Given the description of an element on the screen output the (x, y) to click on. 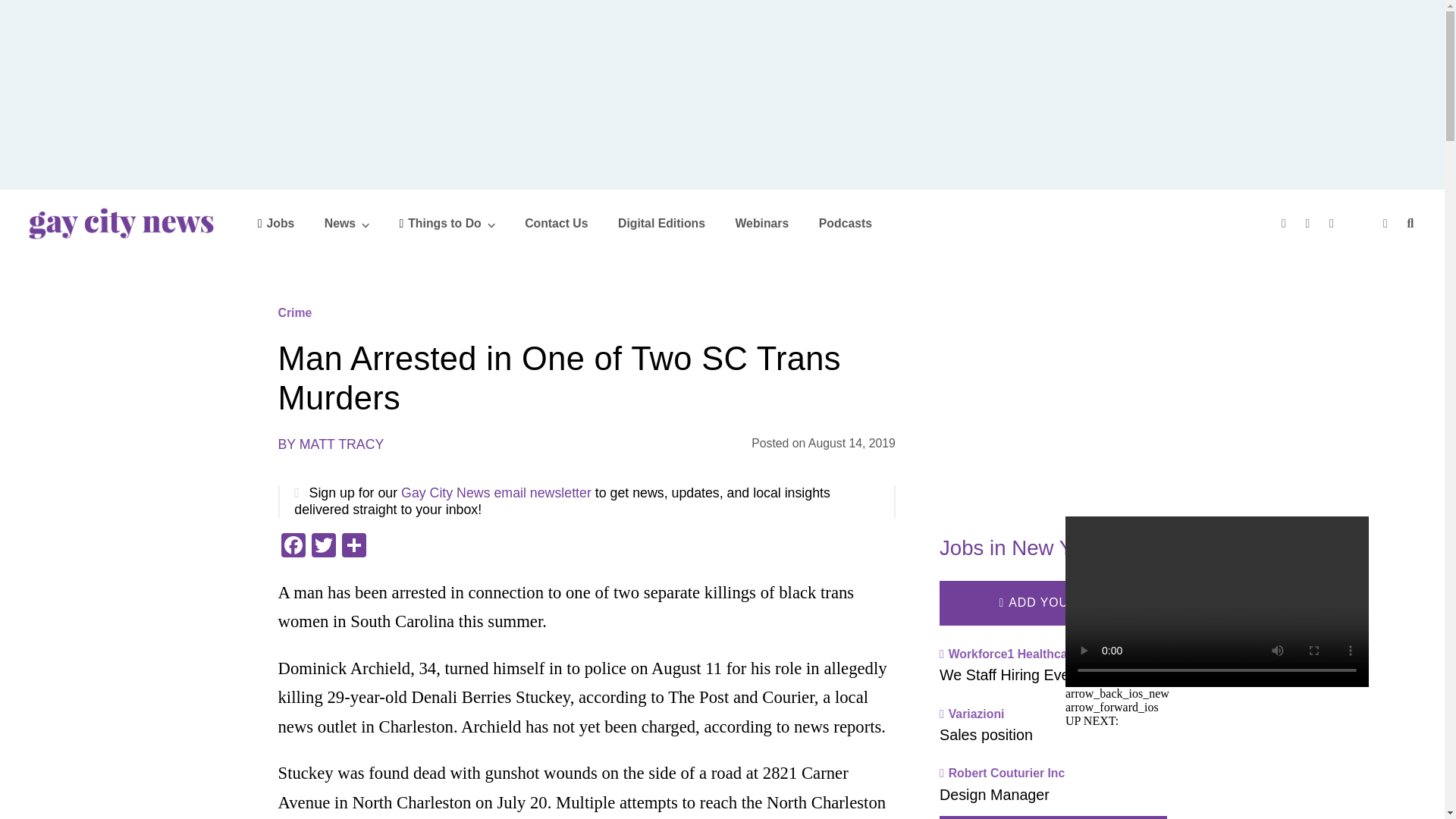
Jobs (276, 223)
Twitter (322, 547)
Podcasts (845, 223)
Contact Us (556, 223)
Things to Do (446, 223)
Digital Editions (660, 223)
Facebook (292, 547)
Webinars (762, 223)
News (346, 223)
